Given the description of an element on the screen output the (x, y) to click on. 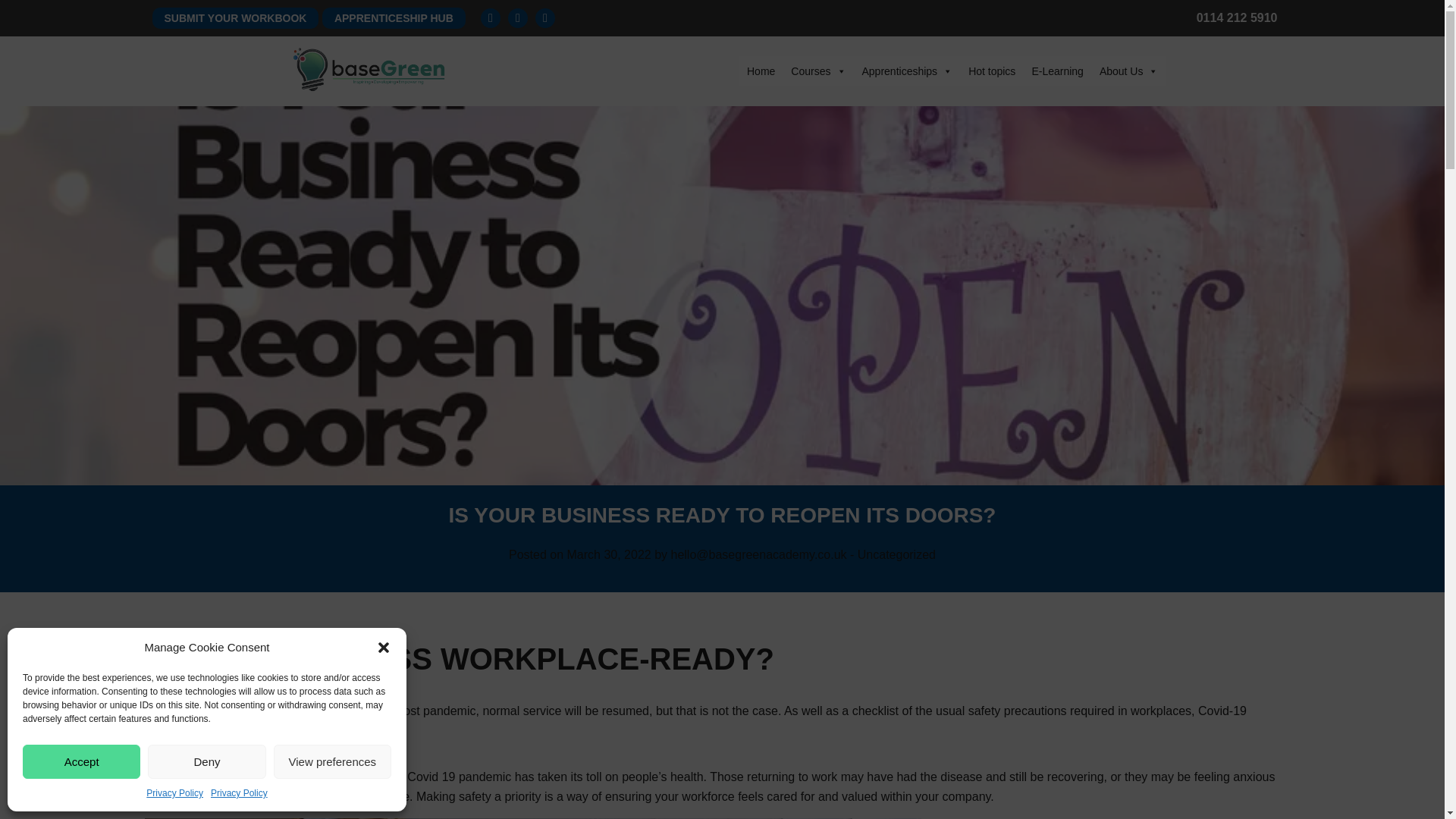
Deny (206, 761)
Accept (81, 761)
Home (761, 71)
View preferences (332, 761)
0114 212 5910 (1244, 18)
SUBMIT YOUR WORKBOOK (234, 17)
APPRENTICESHIP HUB (393, 17)
Privacy Policy (239, 793)
Privacy Policy (175, 793)
Courses (818, 71)
